Given the description of an element on the screen output the (x, y) to click on. 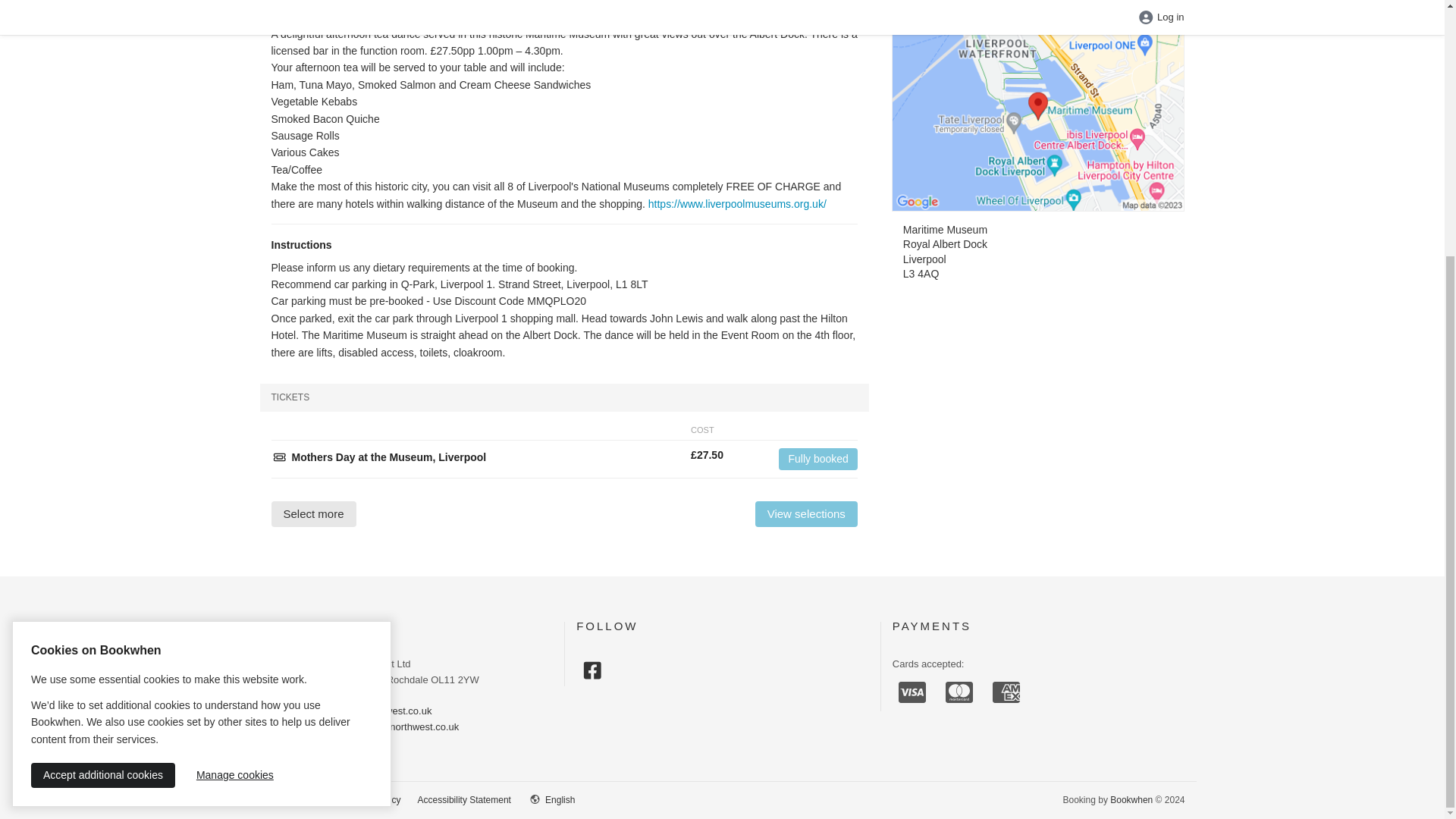
Privacy Policy (372, 799)
Manage cookies (234, 411)
Amex (1006, 692)
Terms of Service (292, 799)
Facebook (592, 671)
Facebook (591, 670)
Visa (911, 692)
Mastercard (958, 692)
Select more (313, 514)
View selections (806, 514)
